Given the description of an element on the screen output the (x, y) to click on. 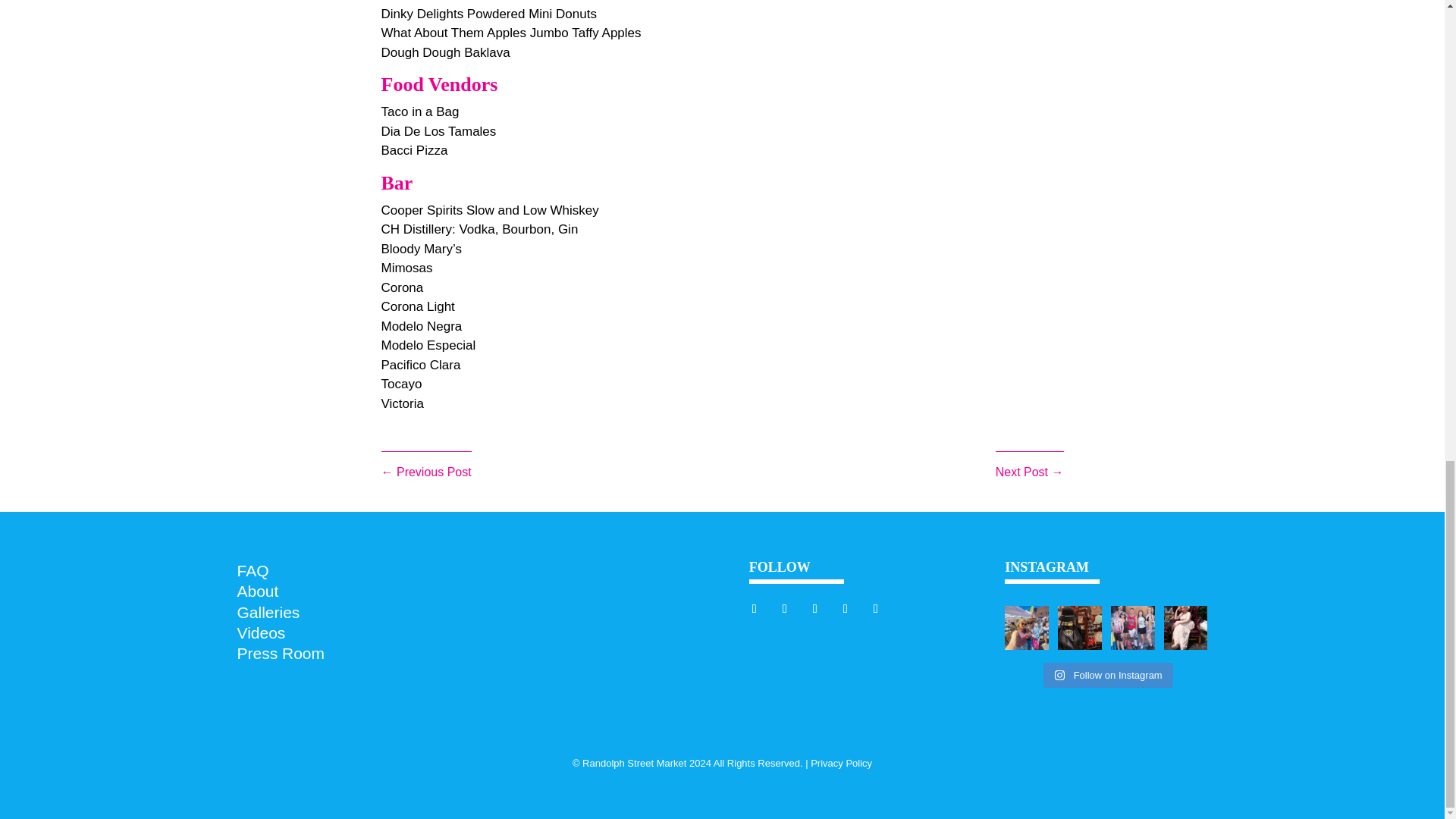
Follow on Facebook (784, 608)
Follow on Youtube (844, 608)
Follow on Pinterest (875, 608)
Follow on X (815, 608)
Follow on Instagram (754, 608)
